Given the description of an element on the screen output the (x, y) to click on. 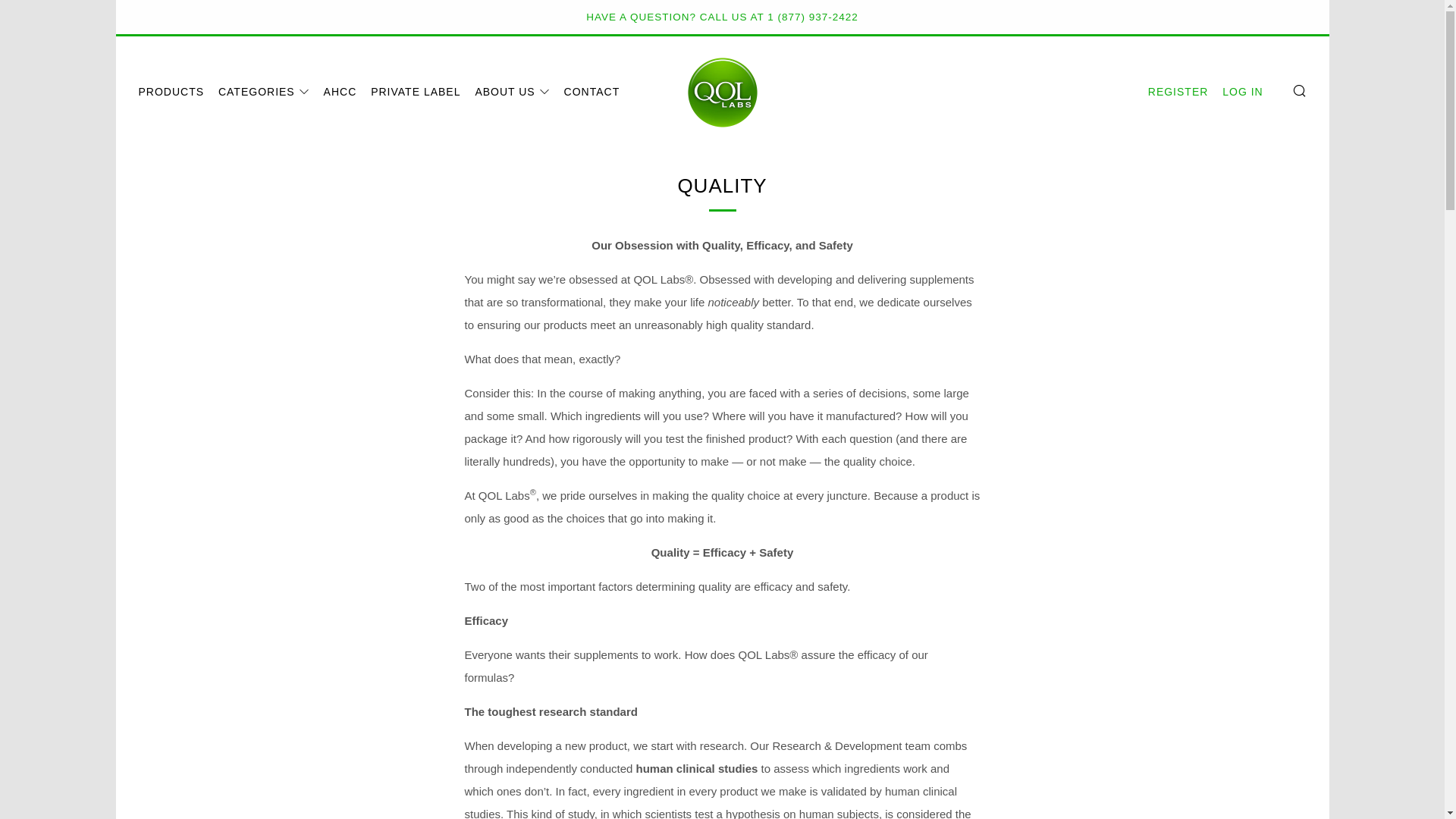
LOG IN (1242, 91)
REGISTER (1178, 91)
PRIVATE LABEL (415, 91)
CATEGORIES (263, 91)
PRODUCTS (170, 91)
ABOUT US (511, 91)
AHCC (339, 91)
CONTACT (592, 91)
